Given the description of an element on the screen output the (x, y) to click on. 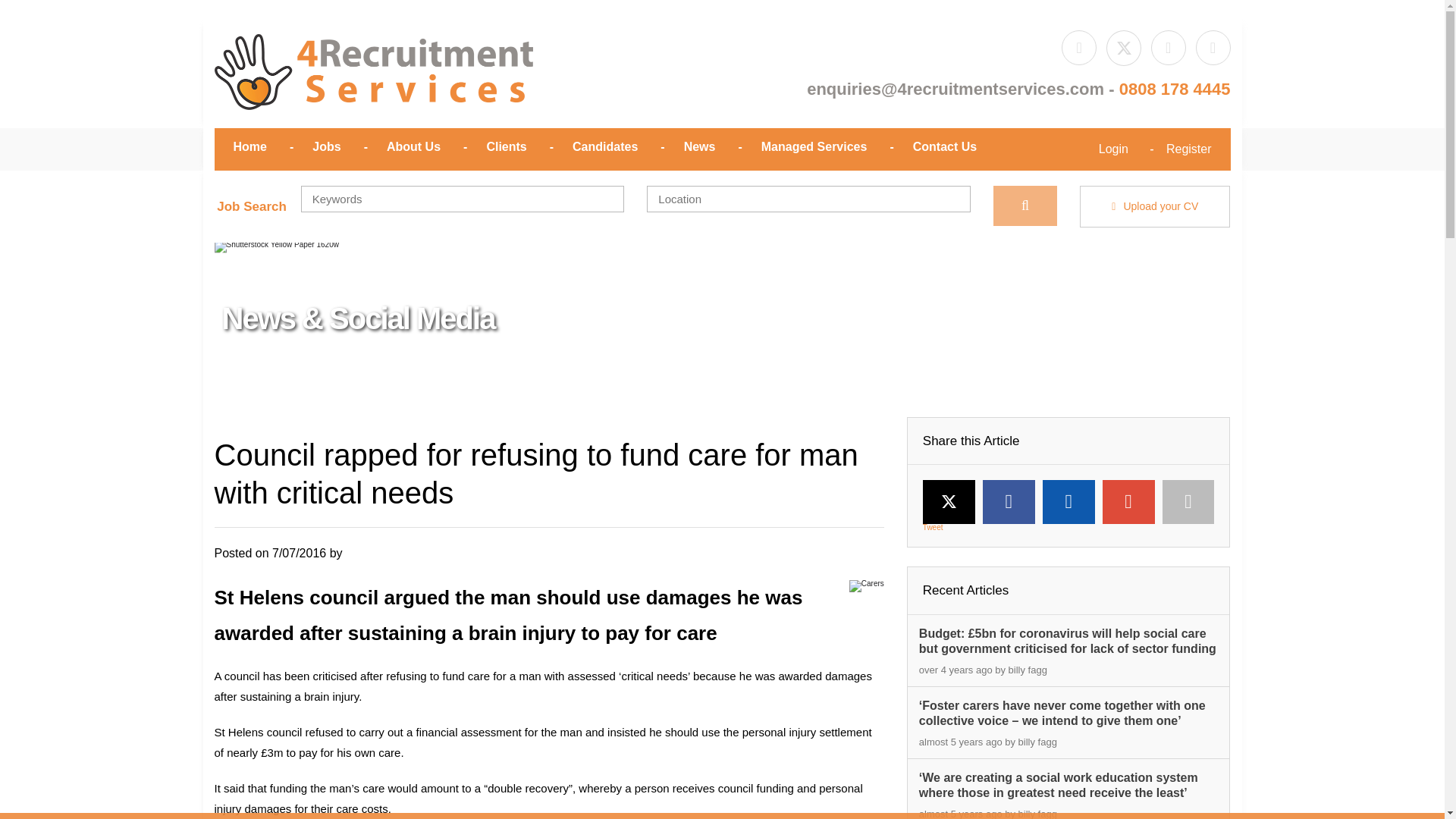
Email (1213, 47)
Twitter (949, 501)
Email (954, 88)
Email (1187, 501)
Facebook (1008, 501)
Search (1024, 205)
Home (373, 75)
LinkedIn (1068, 501)
0808 178 4445 (1174, 88)
